Given the description of an element on the screen output the (x, y) to click on. 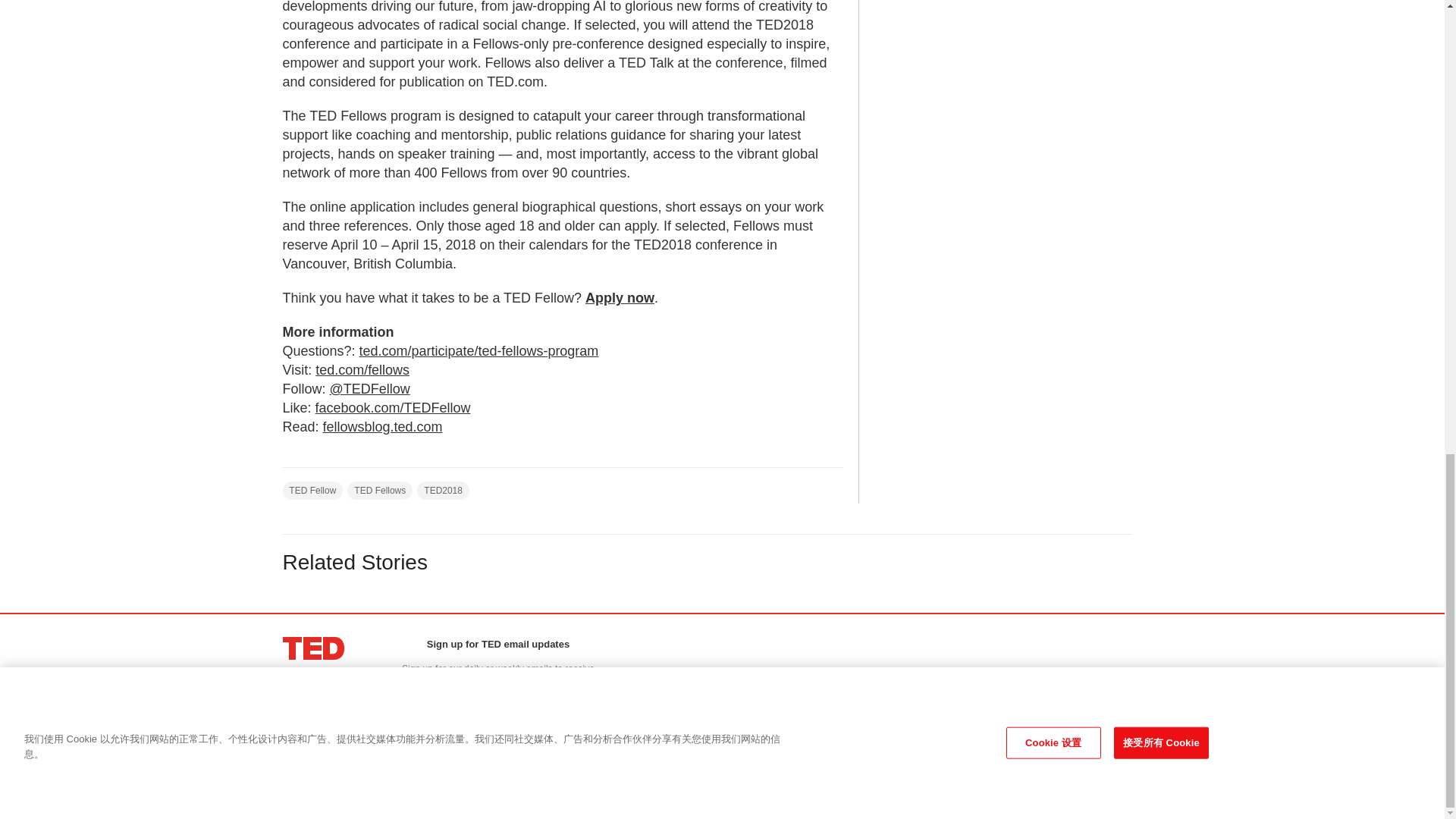
WordPress VIP (485, 763)
TED2018 (442, 490)
Sign Up (497, 719)
TED Fellow (312, 490)
TED Fellows (379, 490)
fellowsblog.ted.com (382, 426)
Sign Up (497, 719)
TED (313, 648)
TED.com (313, 648)
Apply now (619, 297)
